Given the description of an element on the screen output the (x, y) to click on. 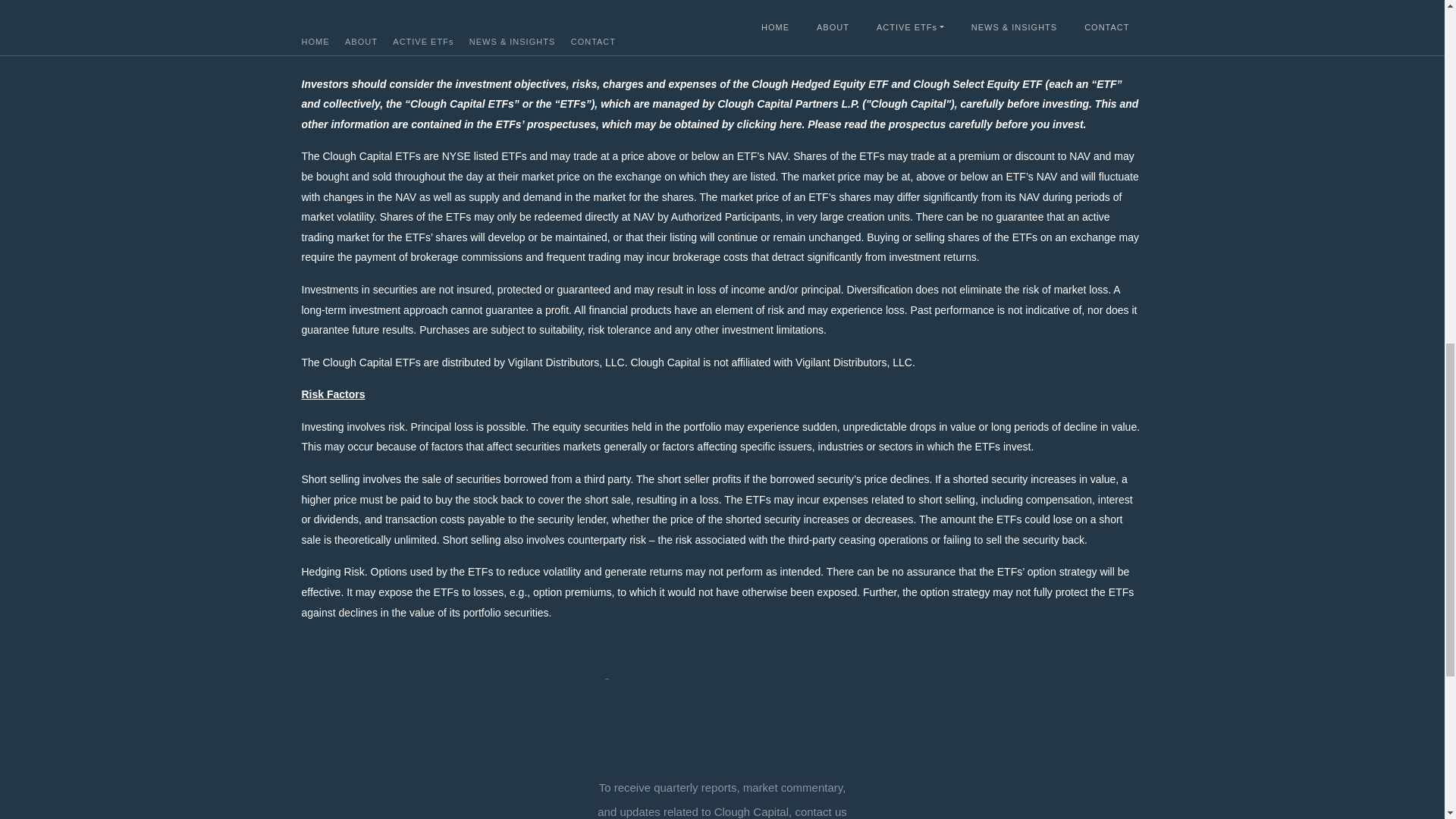
HOME (315, 40)
ABOUT (361, 40)
ACTIVE ETFs (422, 40)
CONTACT (592, 40)
